Given the description of an element on the screen output the (x, y) to click on. 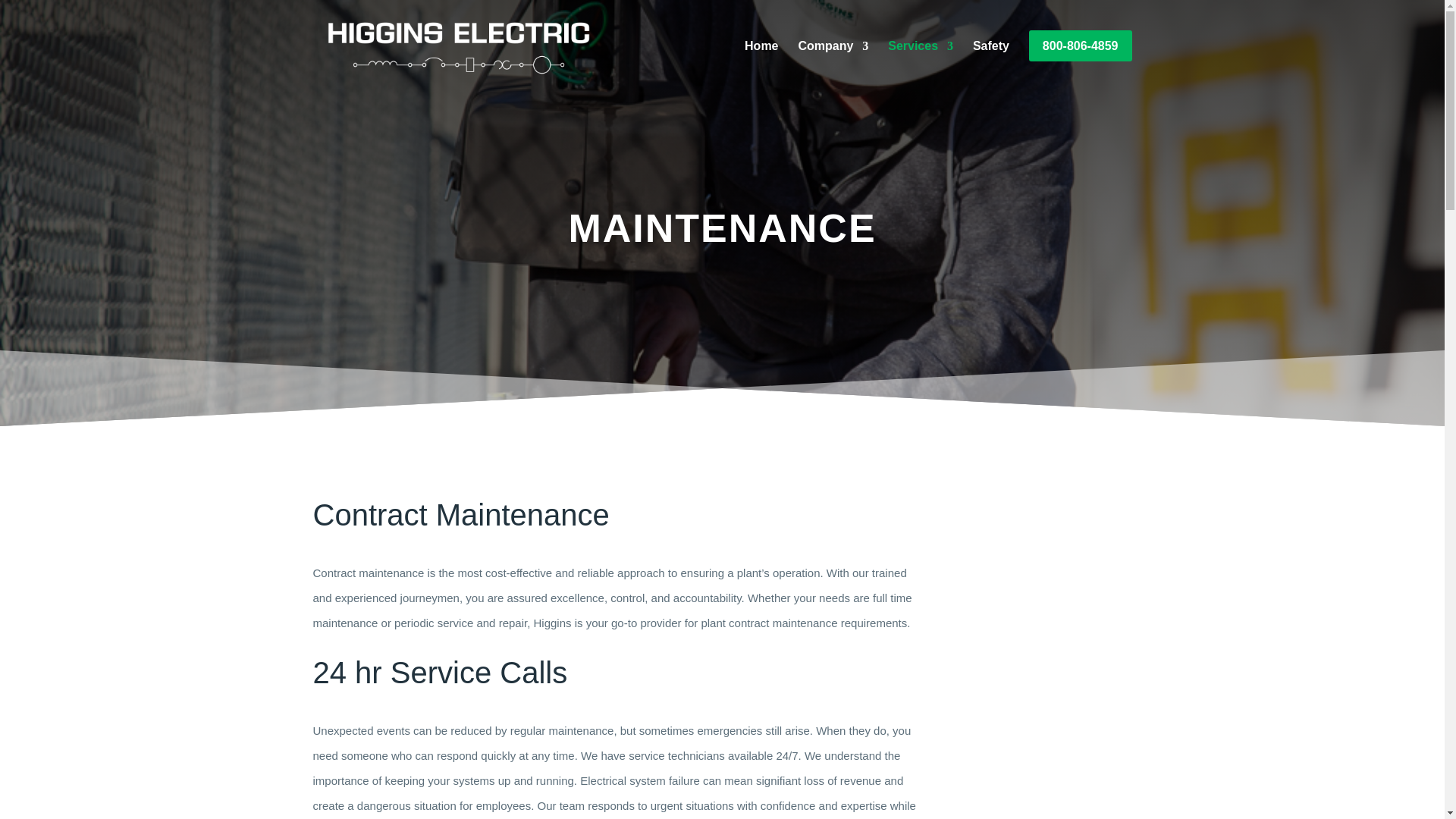
Services (920, 60)
Company (832, 60)
Home (760, 60)
800-806-4859 (1080, 60)
Safety (990, 60)
